Given the description of an element on the screen output the (x, y) to click on. 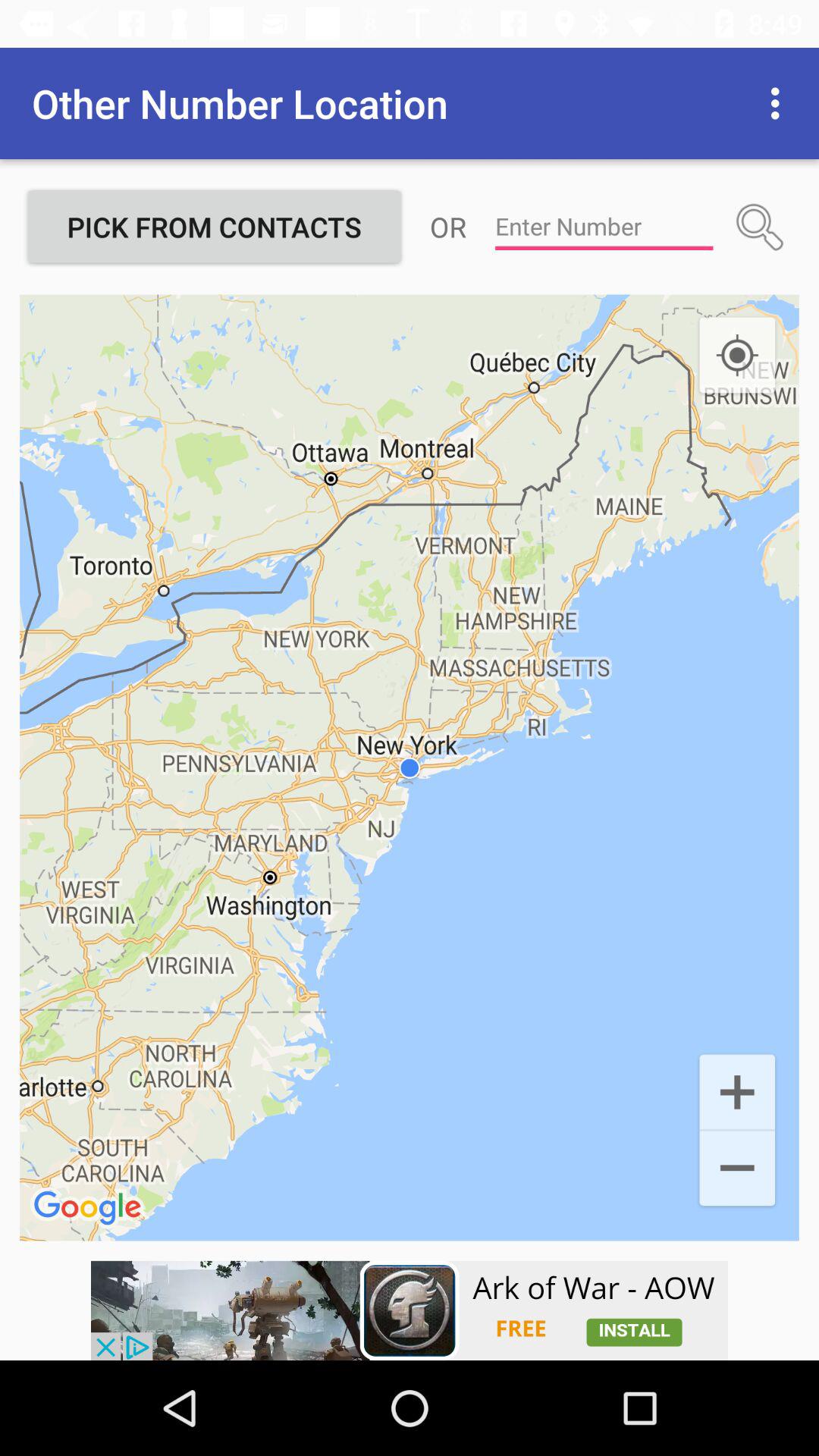
search tool (759, 226)
